Given the description of an element on the screen output the (x, y) to click on. 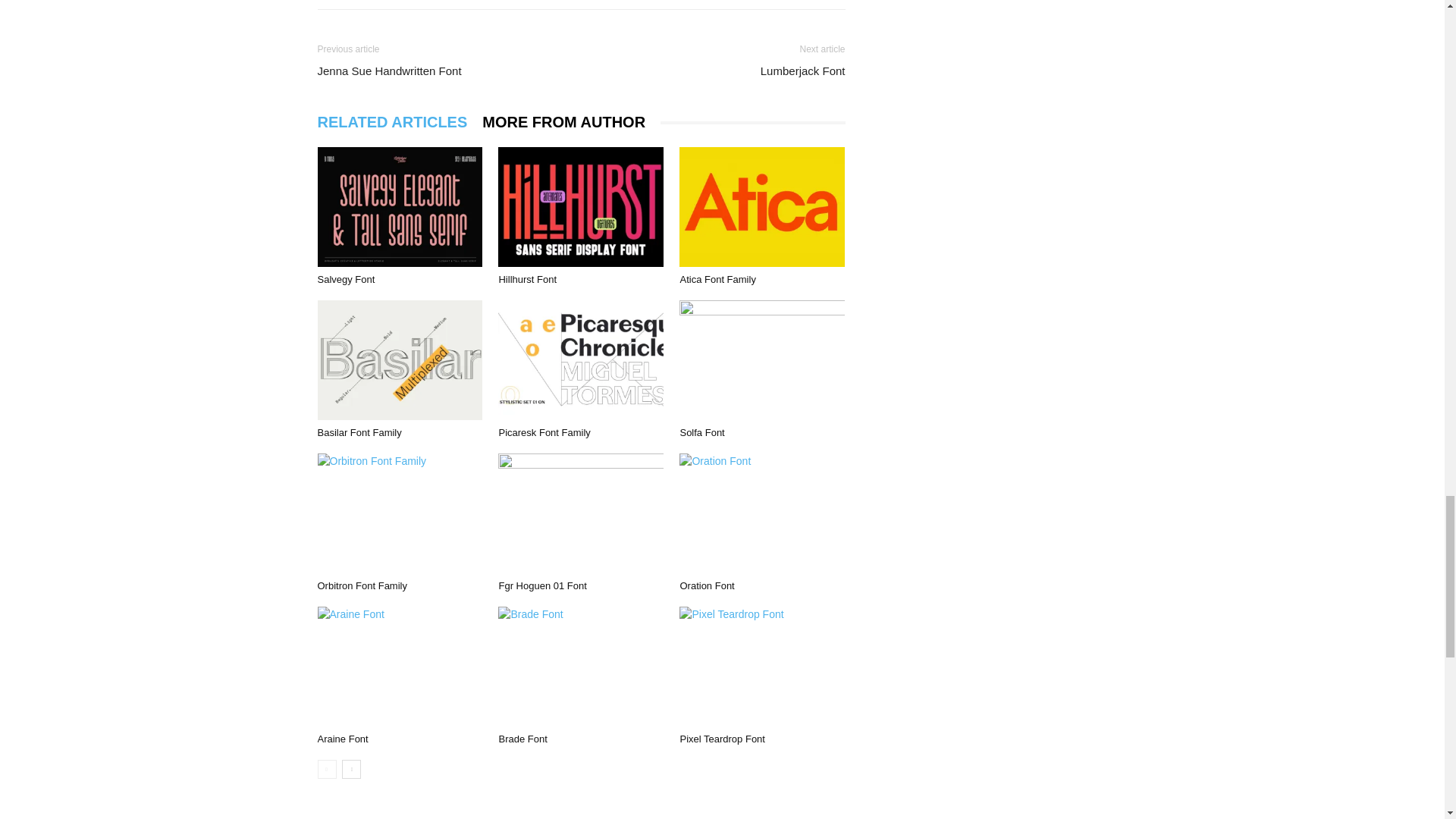
Hillhurst Font (580, 206)
Hillhurst Font (526, 279)
Salvegy Font (399, 206)
Atica Font Family (761, 206)
Salvegy Font (345, 279)
